Given the description of an element on the screen output the (x, y) to click on. 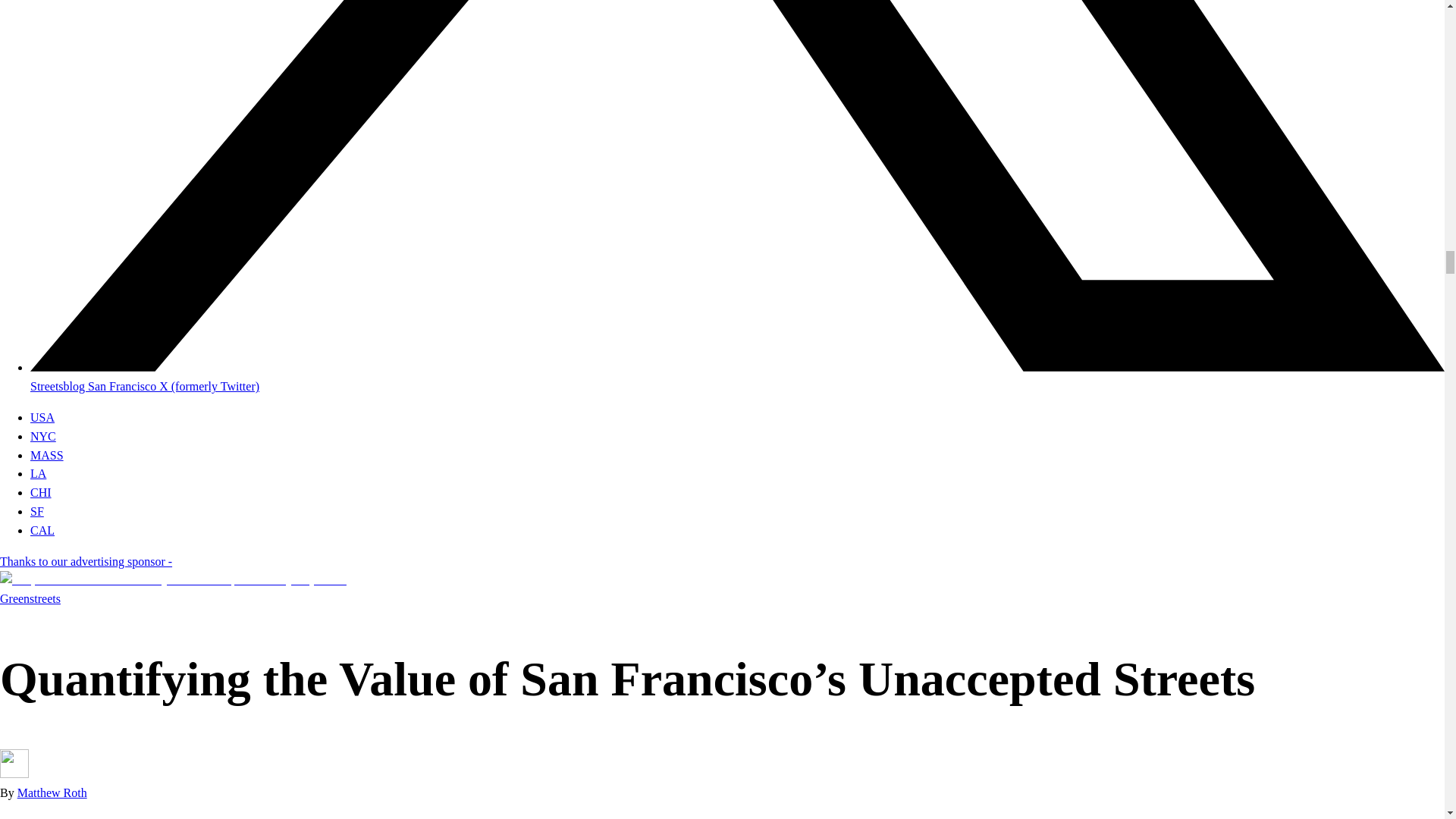
Greenstreets (30, 598)
USA (42, 417)
Matthew Roth (52, 792)
SF (36, 511)
CAL (42, 530)
NYC (43, 436)
LA (38, 472)
CHI (40, 492)
MASS (47, 454)
